Given the description of an element on the screen output the (x, y) to click on. 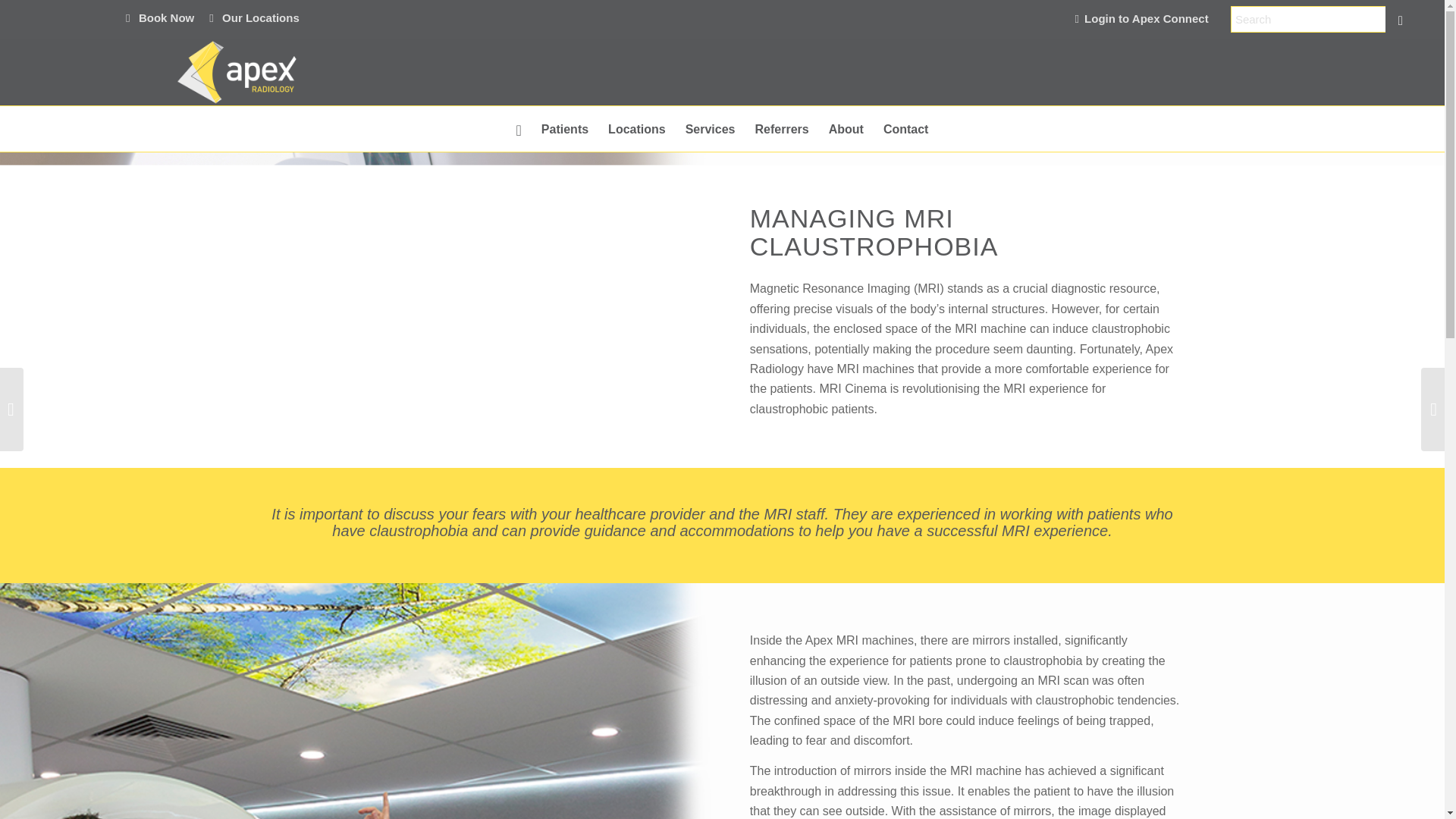
  Book Now (159, 17)
Apex-Radiology-logo (235, 71)
Locations (636, 128)
Patients (564, 128)
Login to Apex Connect (1150, 18)
  Our Locations (254, 17)
Services (710, 128)
